Given the description of an element on the screen output the (x, y) to click on. 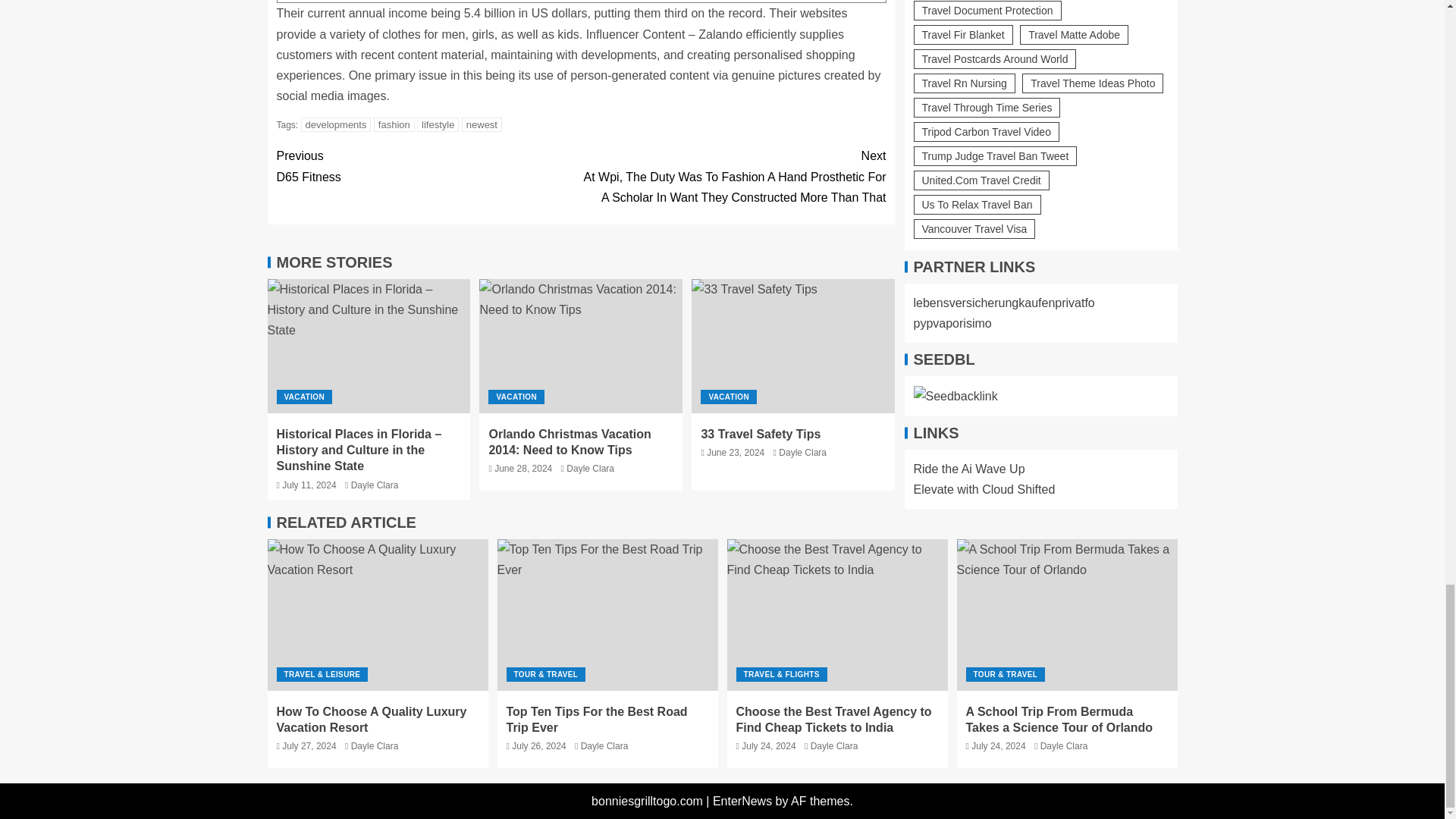
fashion (394, 124)
Orlando Christmas Vacation 2014: Need to Know Tips (580, 346)
lifestyle (437, 124)
developments (336, 124)
newest (428, 165)
33 Travel Safety Tips (481, 124)
